Given the description of an element on the screen output the (x, y) to click on. 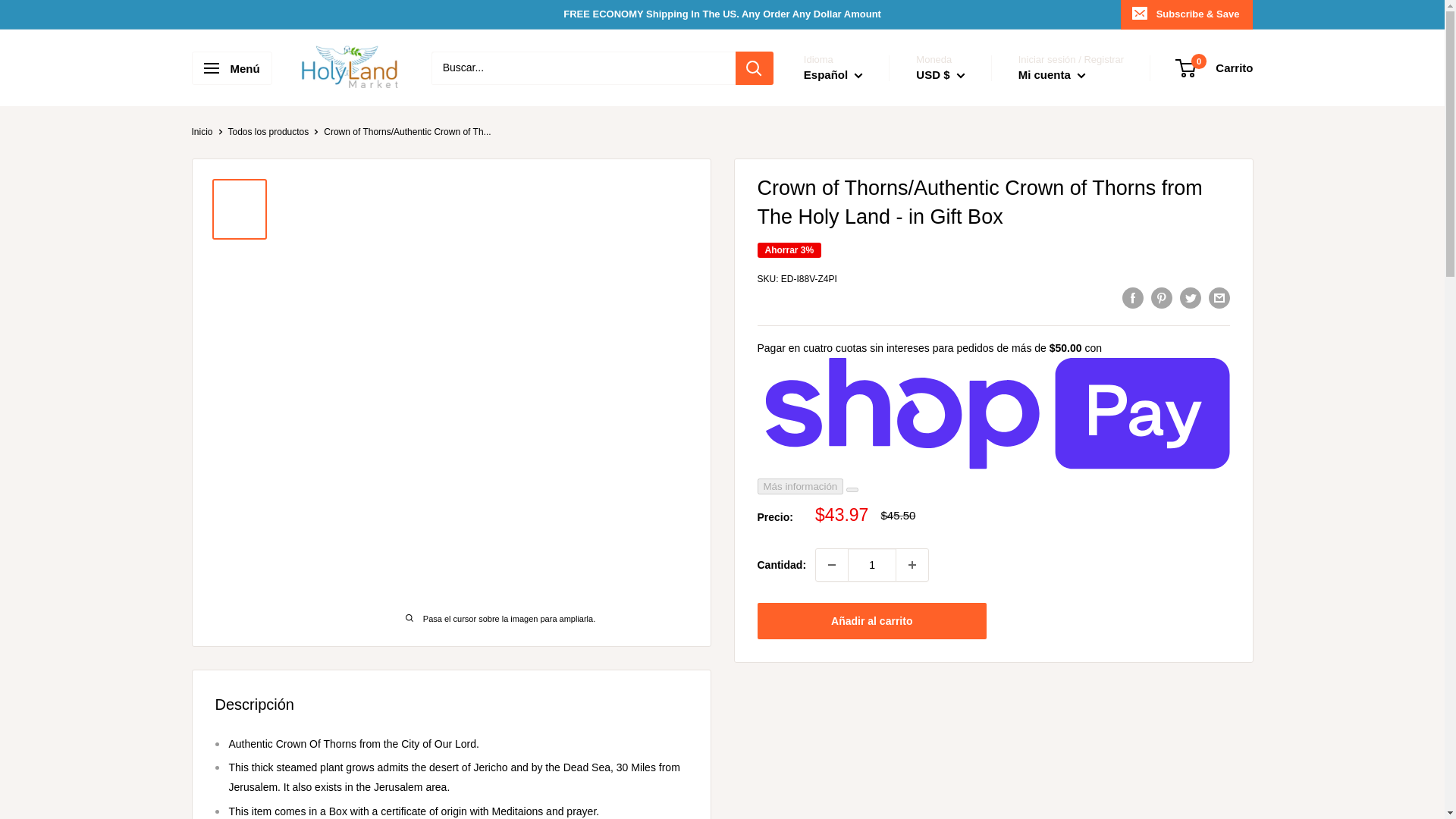
1 (871, 564)
Aumentar la cantidad en 1 (912, 564)
Disminuir la cantidad en 1 (831, 564)
